Given the description of an element on the screen output the (x, y) to click on. 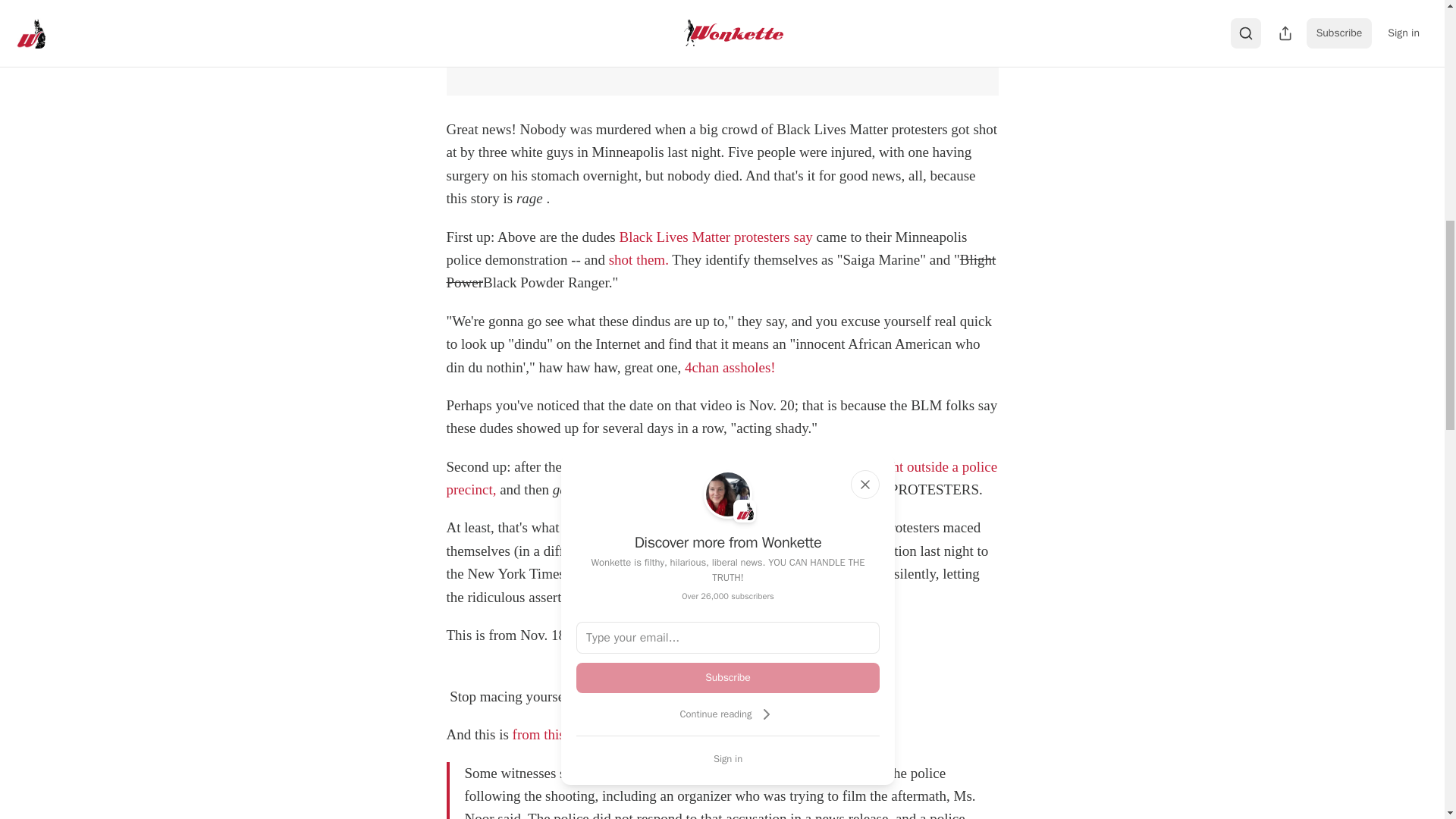
Black Lives Matter protesters say (715, 236)
right outside a police precinct, (721, 477)
shot them. (638, 259)
Subscribe (727, 677)
4chan assholes! (730, 367)
Sign in (727, 758)
from this morning: (568, 734)
